Given the description of an element on the screen output the (x, y) to click on. 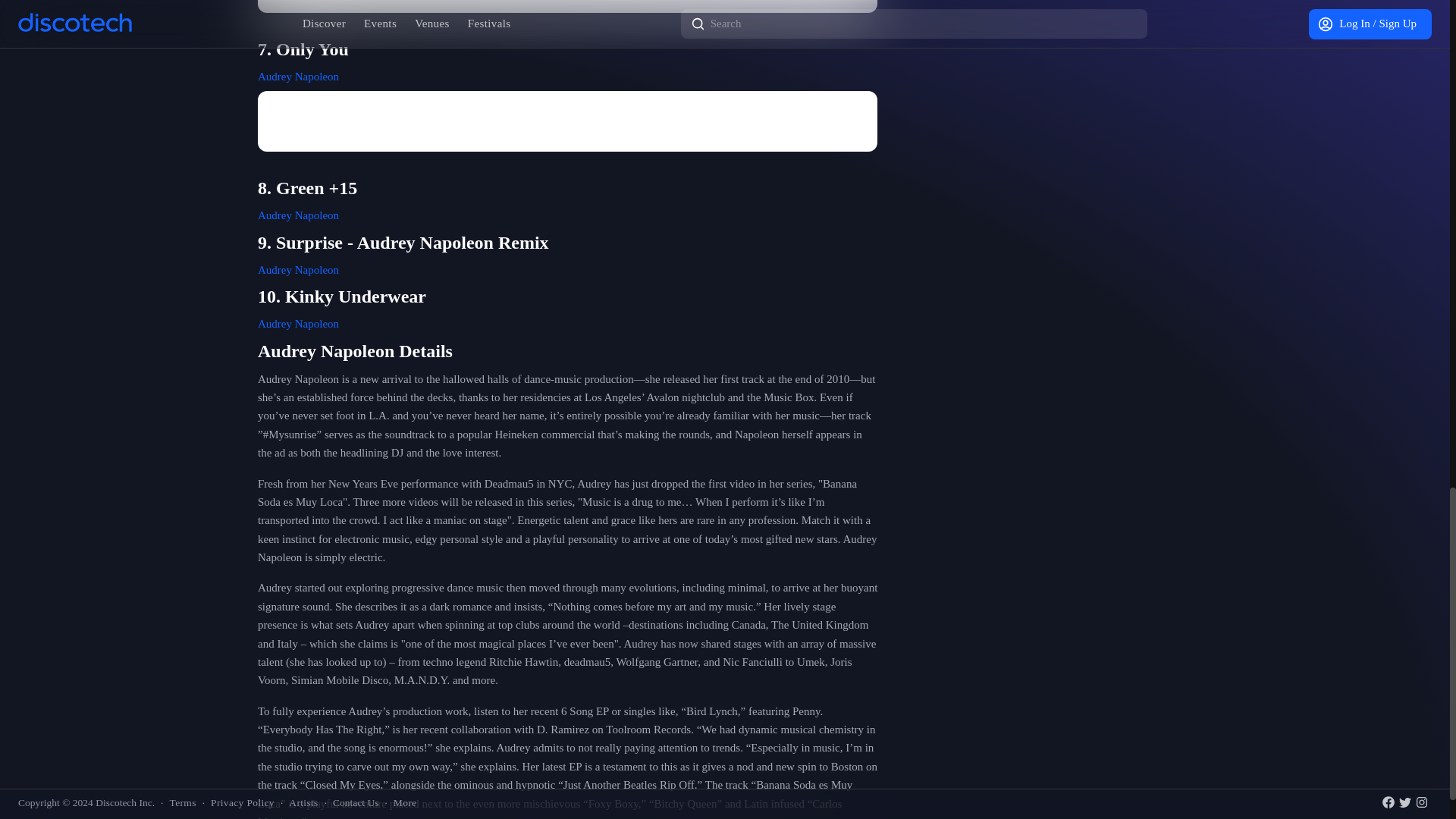
Spotify Web Player (567, 6)
Spotify Web Player (567, 120)
Audrey Napoleon (298, 323)
Audrey Napoleon (298, 215)
Audrey Napoleon (298, 76)
Audrey Napoleon (298, 269)
